Given the description of an element on the screen output the (x, y) to click on. 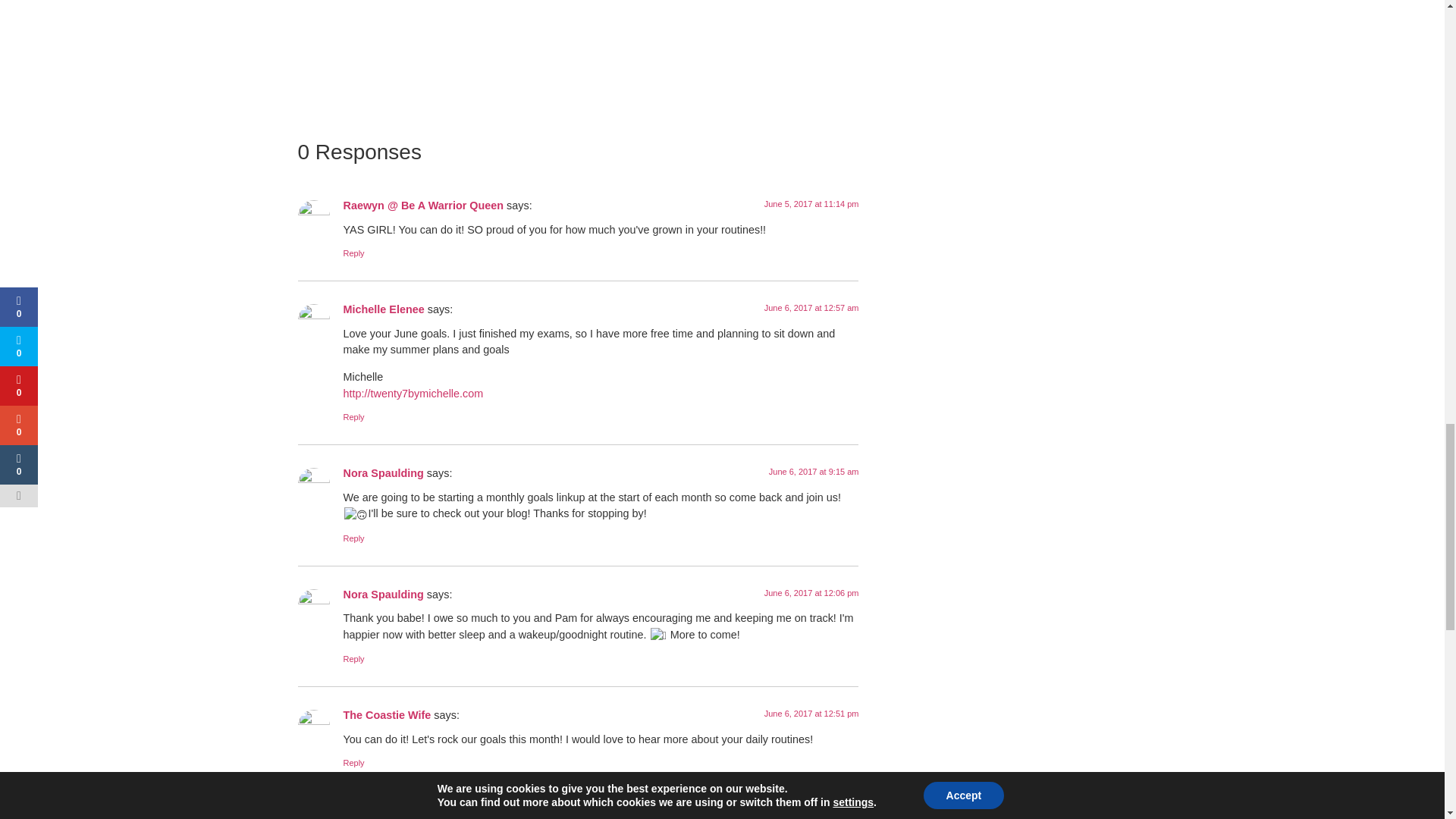
Nora Spaulding (382, 472)
June 6, 2017 at 12:51 pm (811, 713)
Reply (353, 537)
June 6, 2017 at 12:06 pm (811, 592)
June 13, 2017 at 11:35 am (809, 816)
June 6, 2017 at 12:57 am (811, 307)
Reply (353, 762)
June 6, 2017 at 9:15 am (813, 470)
Nora Spaulding (382, 594)
Michelle Elenee (382, 309)
